Given the description of an element on the screen output the (x, y) to click on. 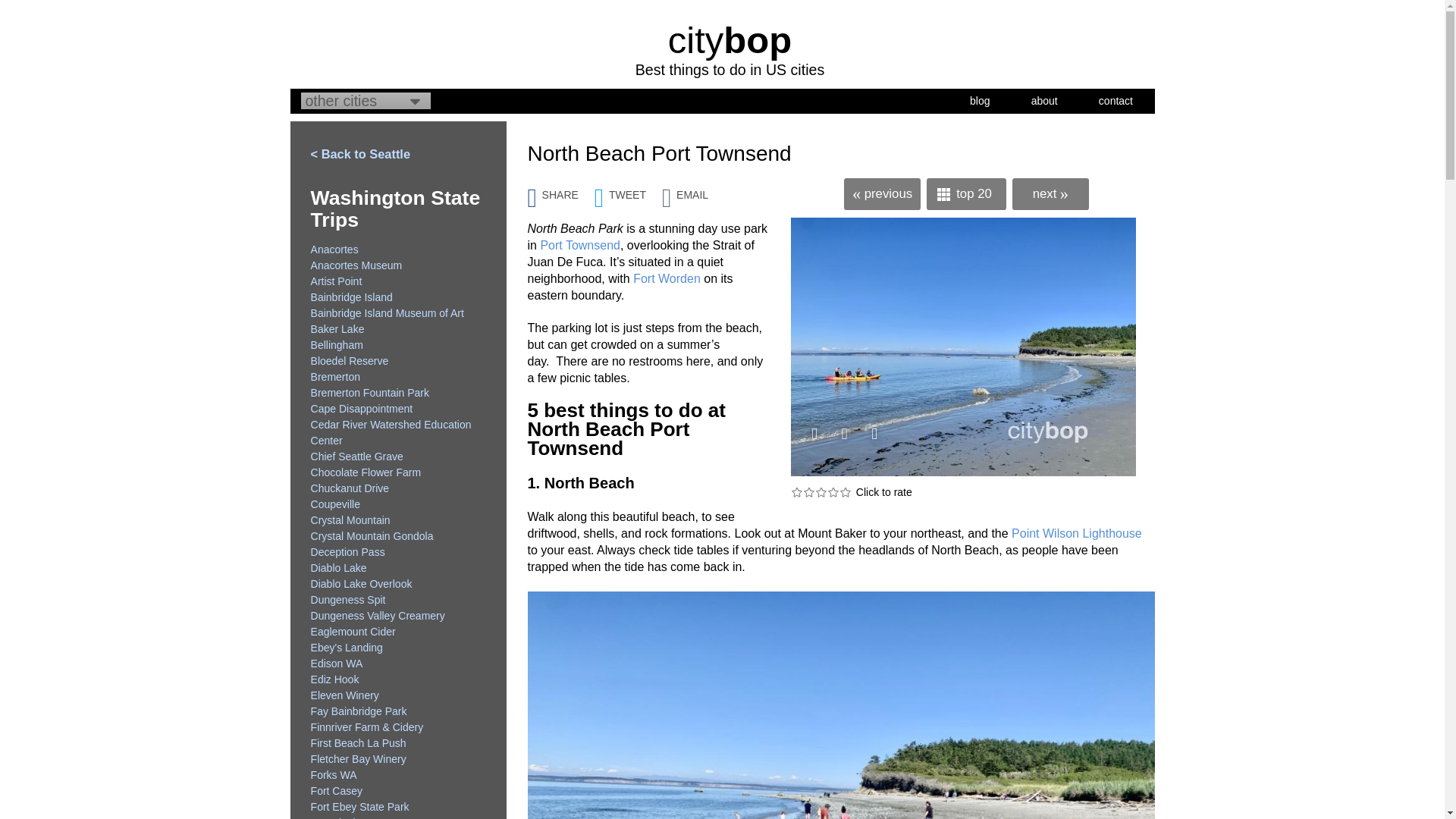
contact (1115, 101)
Fort Worden (666, 278)
blog (979, 101)
citybop (730, 39)
top 20 (966, 193)
North Beach Park (962, 346)
Point Wilson Lighthouse (1076, 533)
EMAIL (692, 189)
TWEET (628, 189)
